Given the description of an element on the screen output the (x, y) to click on. 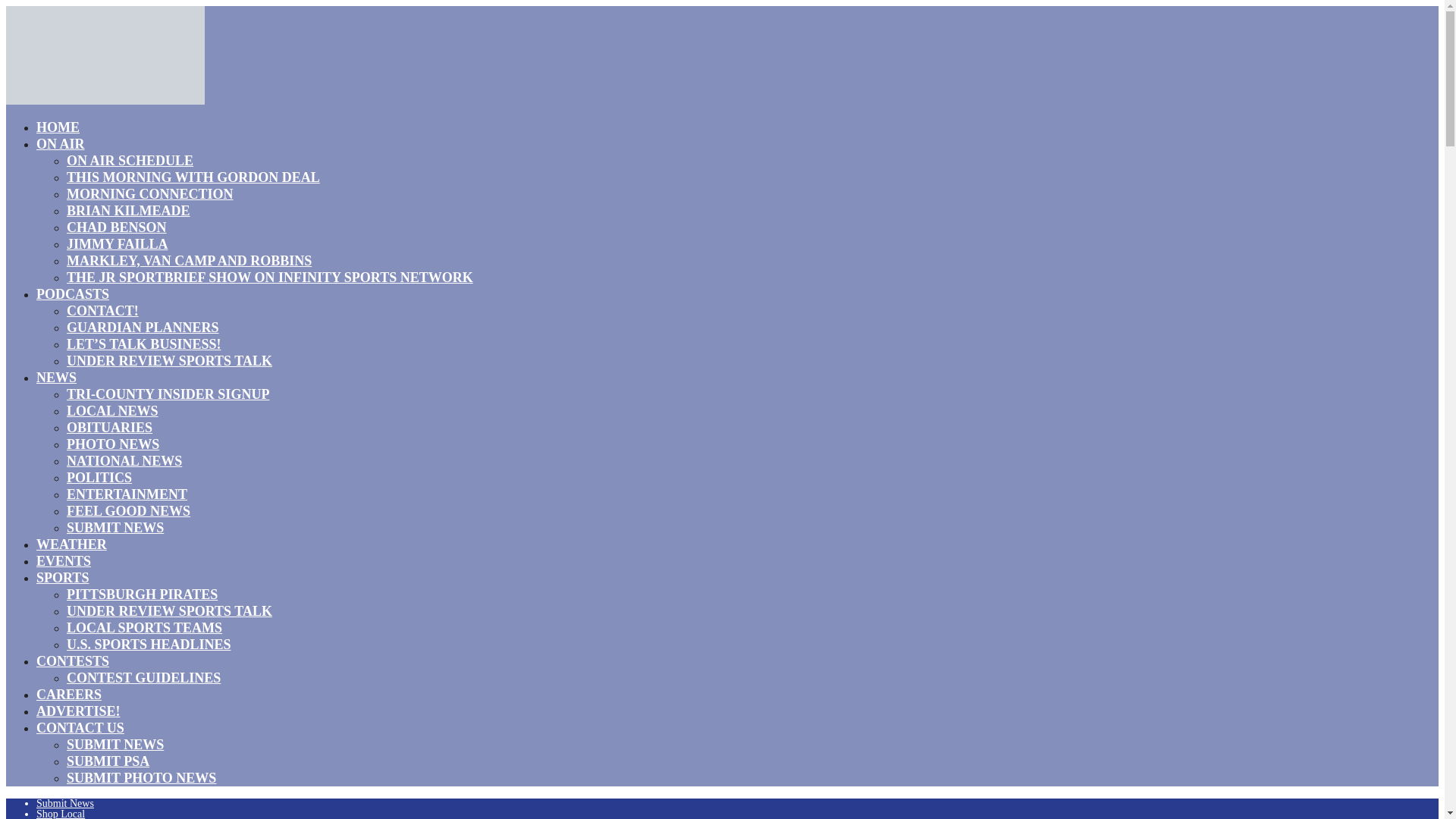
ADVERTISE! (77, 711)
CONTACT! (102, 310)
JIMMY FAILLA (117, 243)
U.S. SPORTS HEADLINES (148, 644)
UNDER REVIEW SPORTS TALK (169, 610)
MORNING CONNECTION (149, 193)
HOME (58, 127)
CONTESTS (72, 660)
SUBMIT NEWS (114, 527)
GUARDIAN PLANNERS (142, 327)
